Given the description of an element on the screen output the (x, y) to click on. 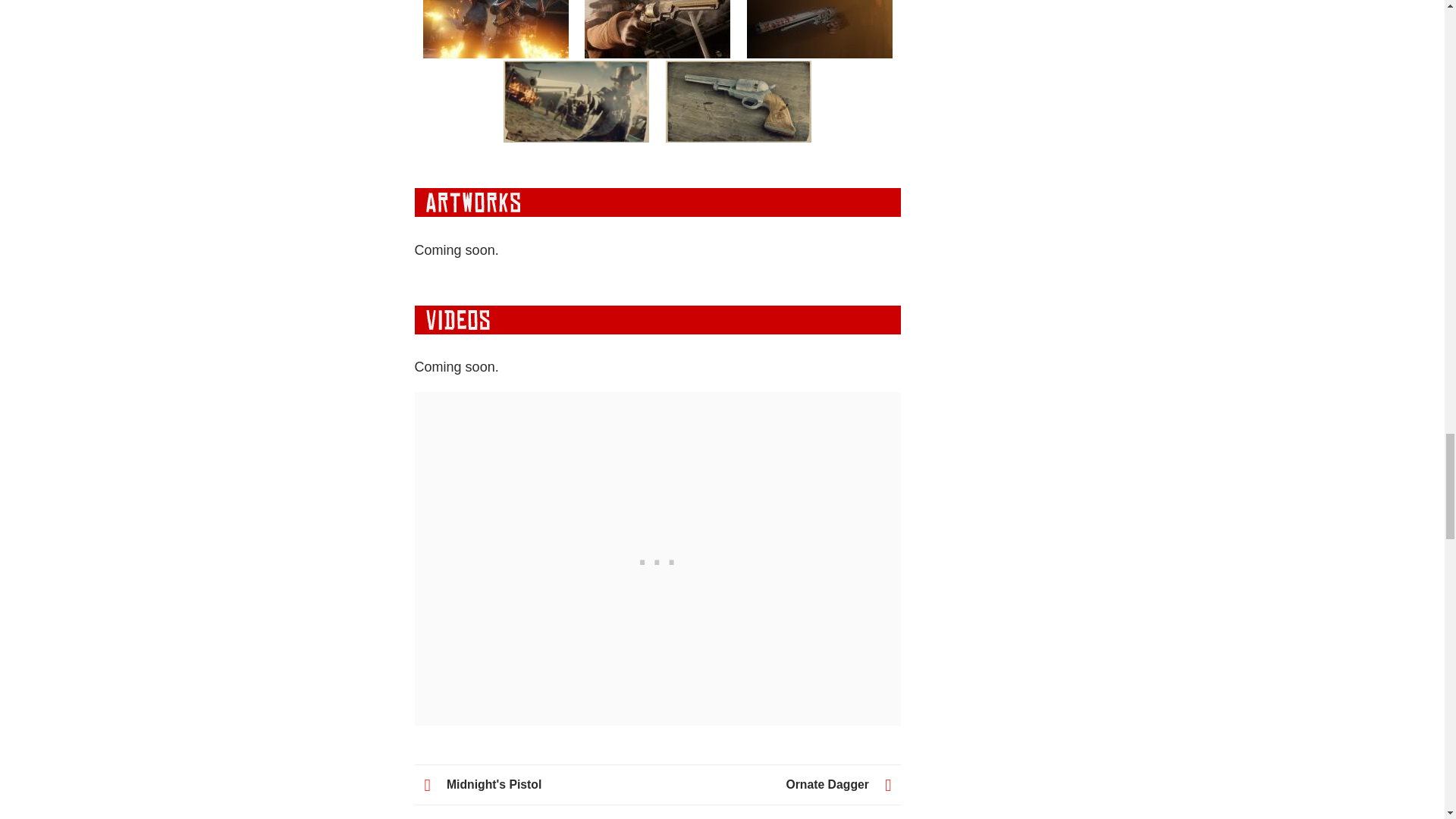
0 (495, 29)
0 (819, 29)
0 (738, 100)
0 (657, 29)
0 (577, 100)
